Given the description of an element on the screen output the (x, y) to click on. 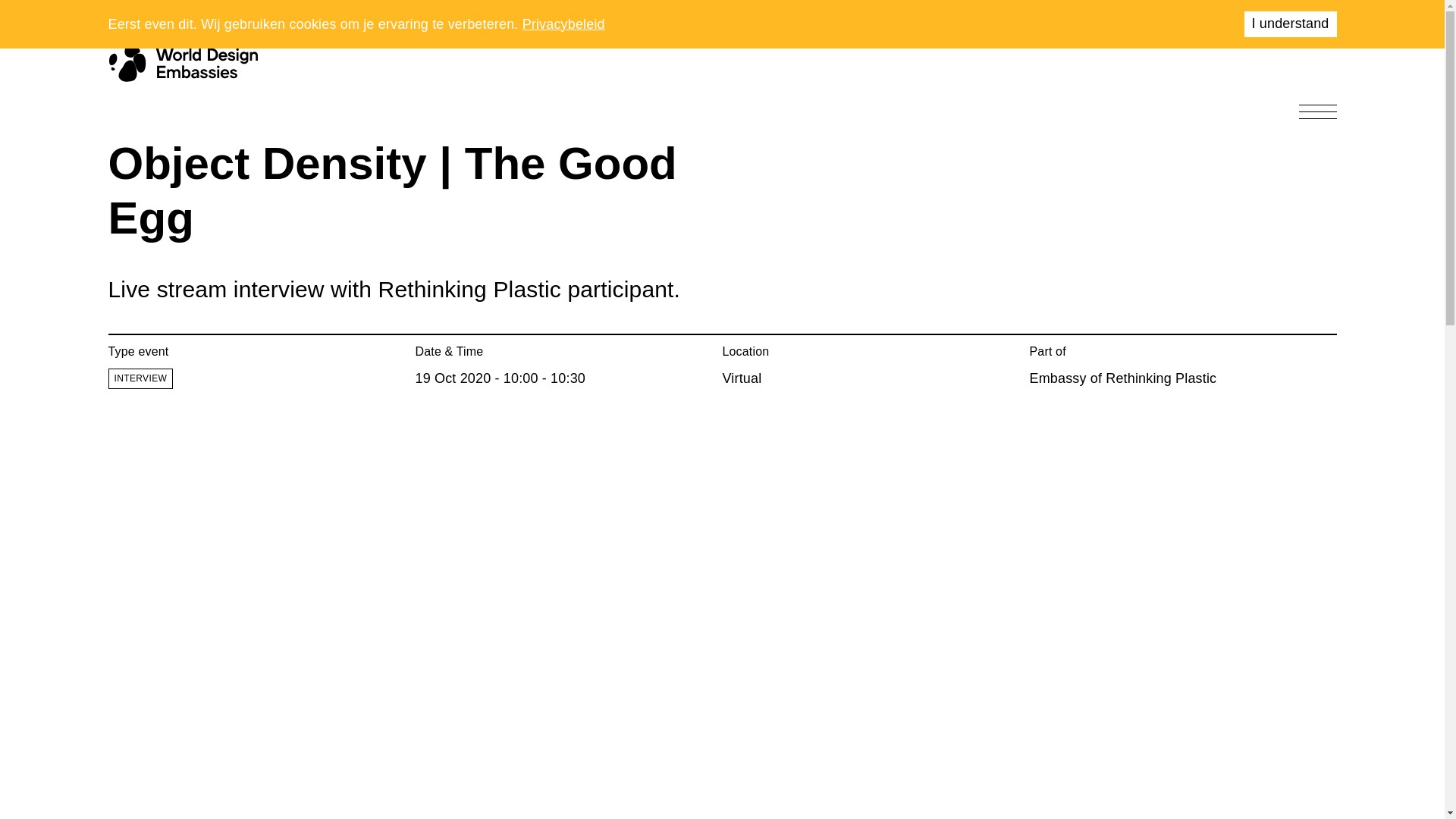
Nederlands (1211, 14)
Privacybeleid (563, 23)
Embassy of Rethinking Plastic (1123, 378)
I understand (1289, 23)
English (1271, 14)
